Given the description of an element on the screen output the (x, y) to click on. 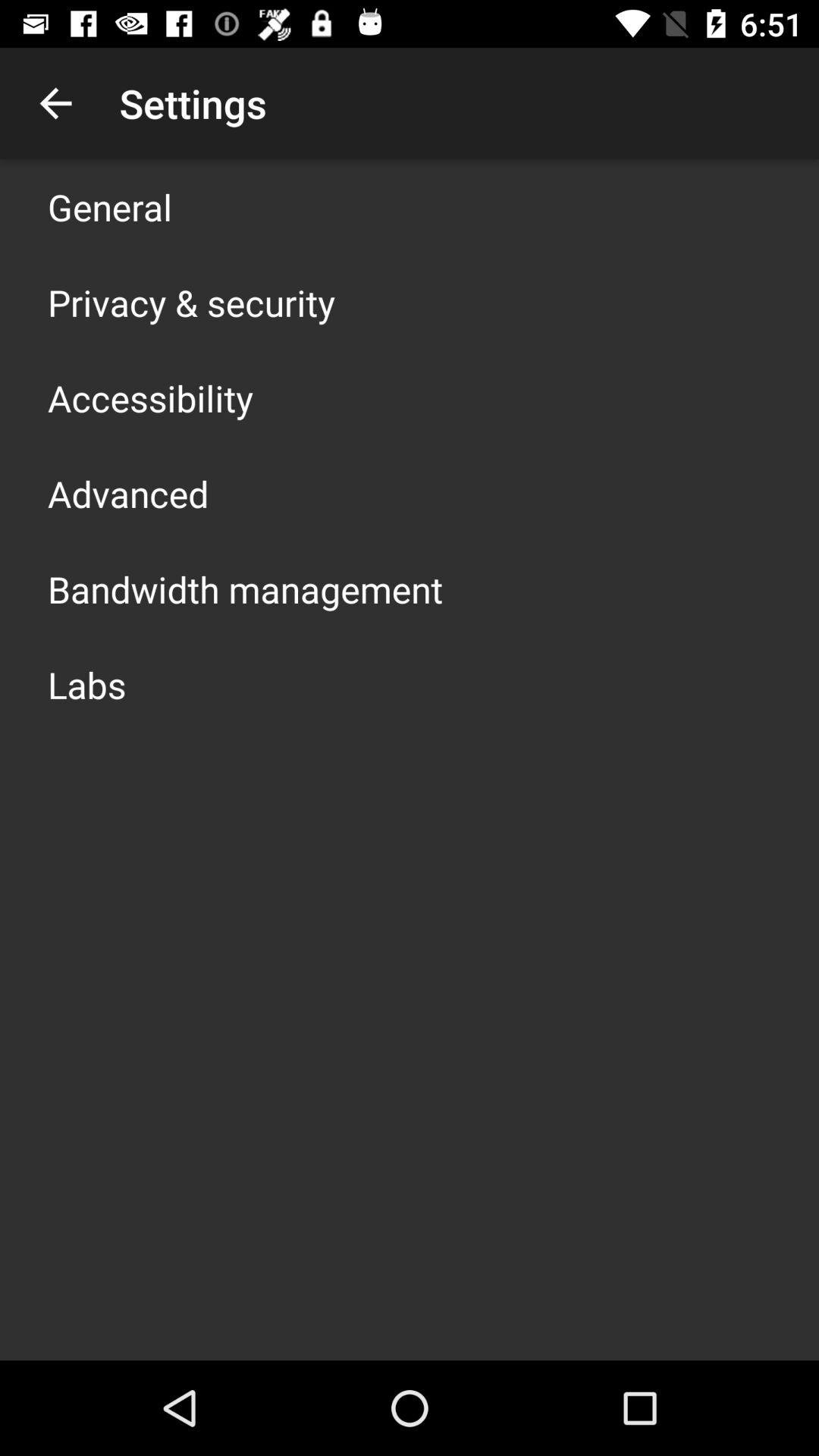
open accessibility app (150, 397)
